Given the description of an element on the screen output the (x, y) to click on. 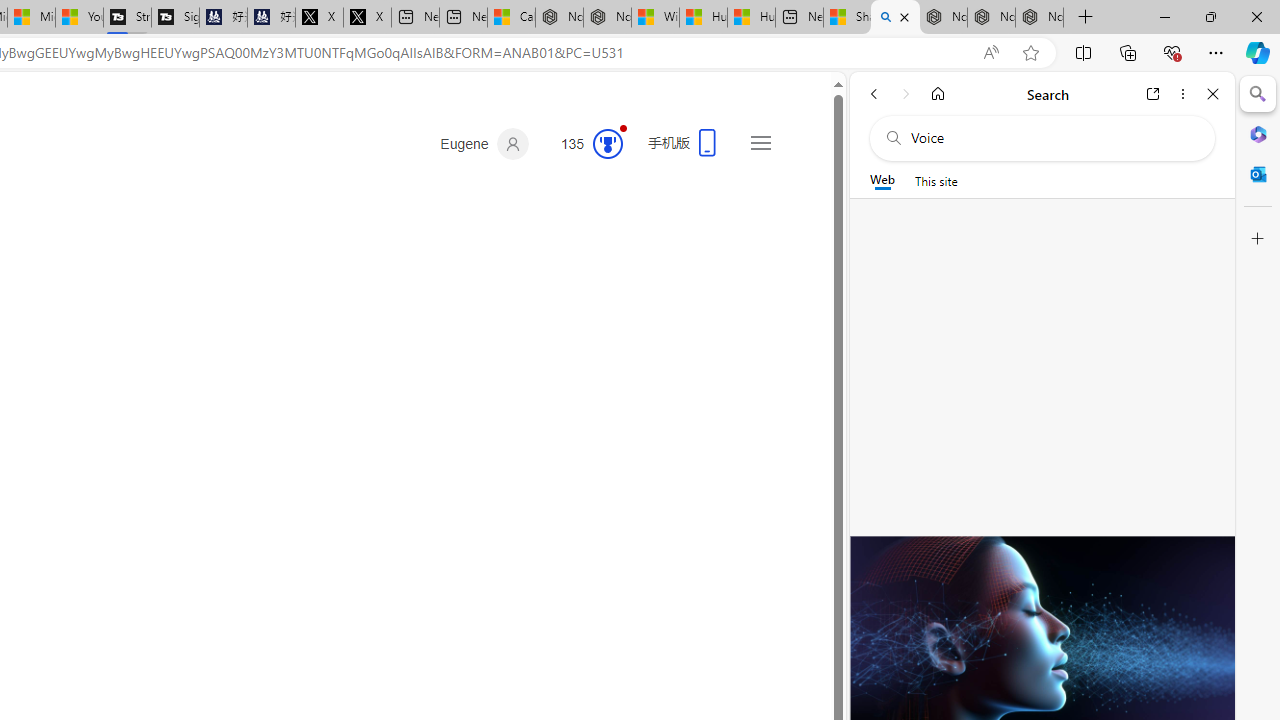
Huge shark washes ashore at New York City beach | Watch (751, 17)
Back (874, 93)
This site scope (936, 180)
Nordace - Siena Pro 15 Essential Set (1039, 17)
Open link in new tab (1153, 93)
Microsoft 365 (1258, 133)
New Tab (1085, 17)
Copilot (Ctrl+Shift+.) (1258, 52)
Split screen (1083, 52)
Outlook (1258, 174)
Settings and quick links (760, 142)
Customize (1258, 239)
New tab (799, 17)
amazon - Search (895, 17)
